Given the description of an element on the screen output the (x, y) to click on. 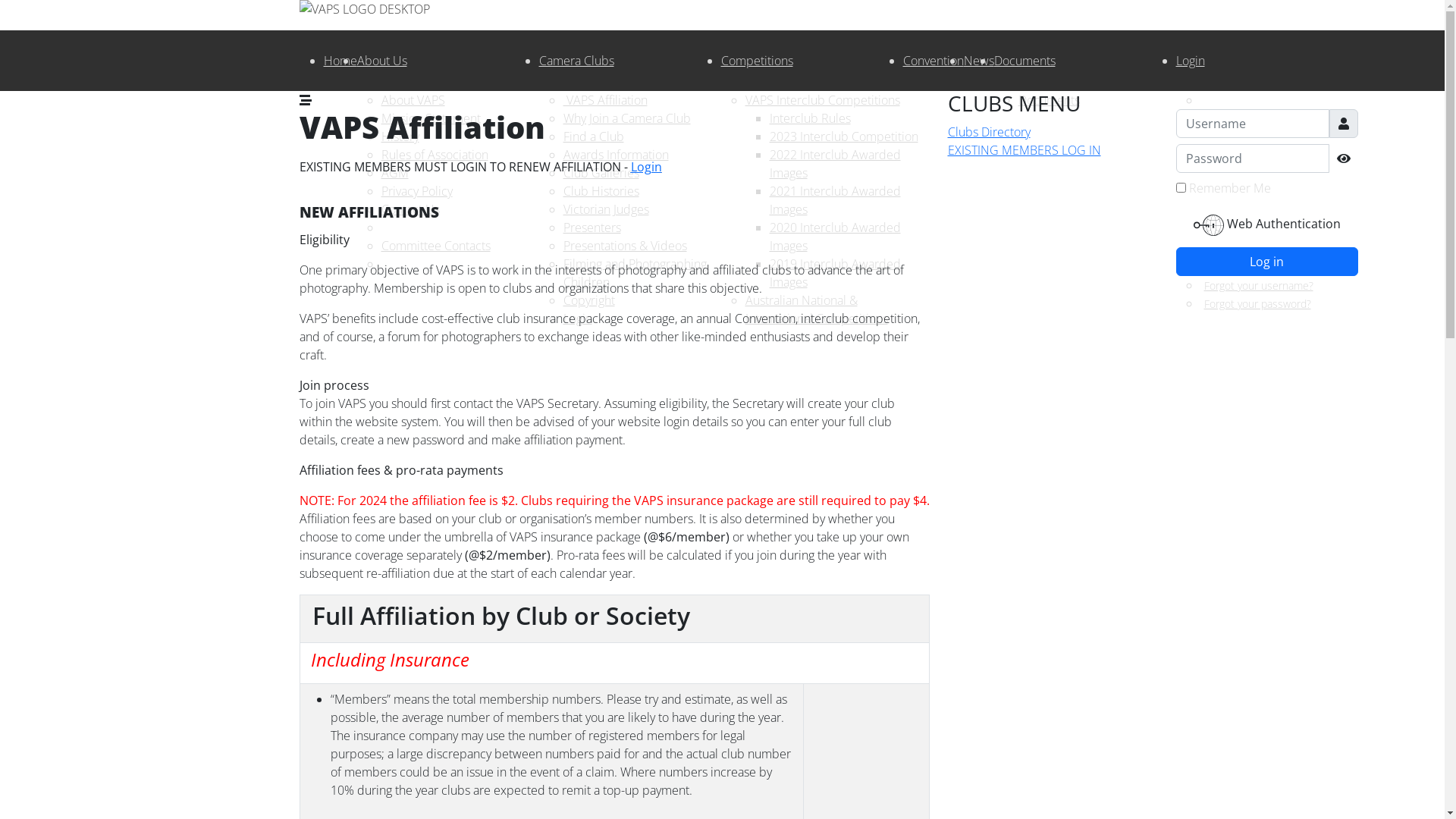
Clubs Directory Element type: text (988, 131)
Find a Club Element type: text (592, 136)
AGM Element type: text (393, 172)
Convention Element type: text (932, 60)
Australian National & International Competitions Element type: text (815, 308)
2023 Interclub Competition Element type: text (842, 136)
News Element type: text (978, 60)
Why Join a Camera Club Element type: text (626, 117)
Victorian Judges Element type: text (605, 208)
Interclub Rules Element type: text (809, 117)
About VAPS Element type: text (412, 99)
Competitions Element type: text (756, 60)
Forgot your username? Element type: text (1255, 285)
History Element type: text (399, 136)
Documents Element type: text (1048, 99)
Mission Statement Element type: text (430, 117)
Presentations & Videos Element type: text (624, 245)
2021 Interclub Awarded Images Element type: text (834, 199)
Documents Element type: text (1023, 60)
Login Element type: text (1189, 60)
Club Galleries Element type: text (600, 172)
Forgot your password? Element type: text (1254, 303)
Privacy Policy Element type: text (415, 190)
2019 Interclub Awarded Images Element type: text (834, 272)
Log in Element type: text (1266, 261)
Username Element type: hover (1342, 123)
Copyright Element type: text (588, 299)
Contact Us Element type: text (409, 208)
VAPS Interclub Competitions Element type: text (821, 99)
Show Password Element type: text (1342, 158)
Login Element type: text (646, 166)
Camera Clubs Element type: text (575, 60)
Committee Contacts Element type: text (434, 245)
Web Authentication Element type: text (1266, 225)
EXISTING MEMBERS LOG IN Element type: text (1024, 149)
About Us Element type: text (381, 60)
Filming and Photographing Children Element type: text (634, 272)
Awards Information Element type: text (615, 154)
Rules of Association Element type: text (433, 154)
Home Element type: text (339, 60)
2022 Interclub Awarded Images Element type: text (834, 163)
VAPS Affiliation Element type: text (604, 99)
Login Element type: text (576, 318)
Club Histories Element type: text (600, 190)
2020 Interclub Awarded Images Element type: text (834, 236)
Presenters Element type: text (591, 227)
